Given the description of an element on the screen output the (x, y) to click on. 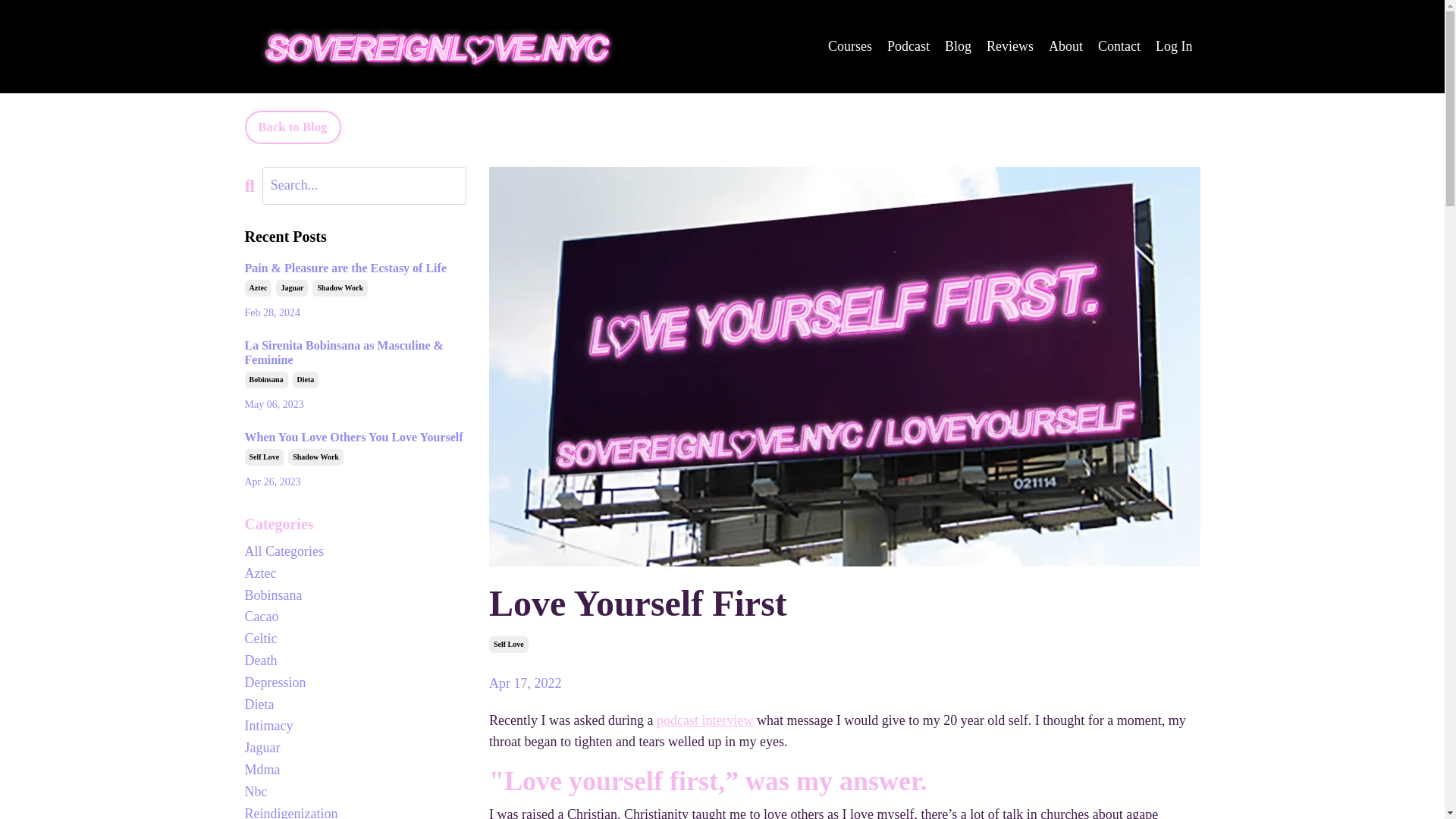
Depression (354, 682)
Death (354, 660)
Aztec (257, 288)
podcast interview (704, 720)
Self Love (263, 457)
Reindigenization (354, 810)
Back to Blog (292, 127)
About (1065, 46)
Self Love (508, 644)
Cacao (354, 617)
Blog (957, 46)
Jaguar (291, 288)
Shadow Work (315, 457)
Reviews (1010, 46)
Bobinsana (265, 379)
